Given the description of an element on the screen output the (x, y) to click on. 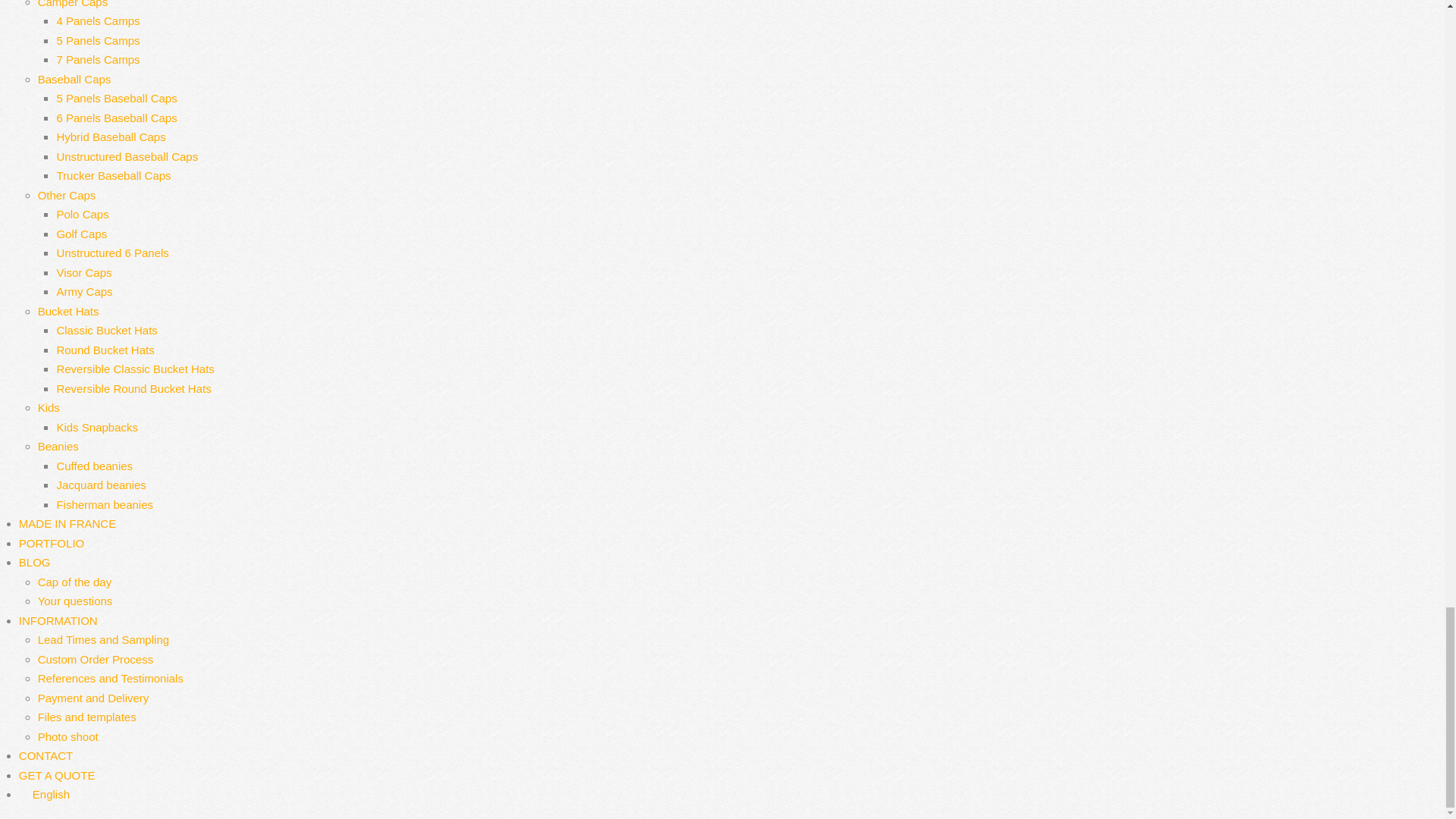
English (43, 793)
